Given the description of an element on the screen output the (x, y) to click on. 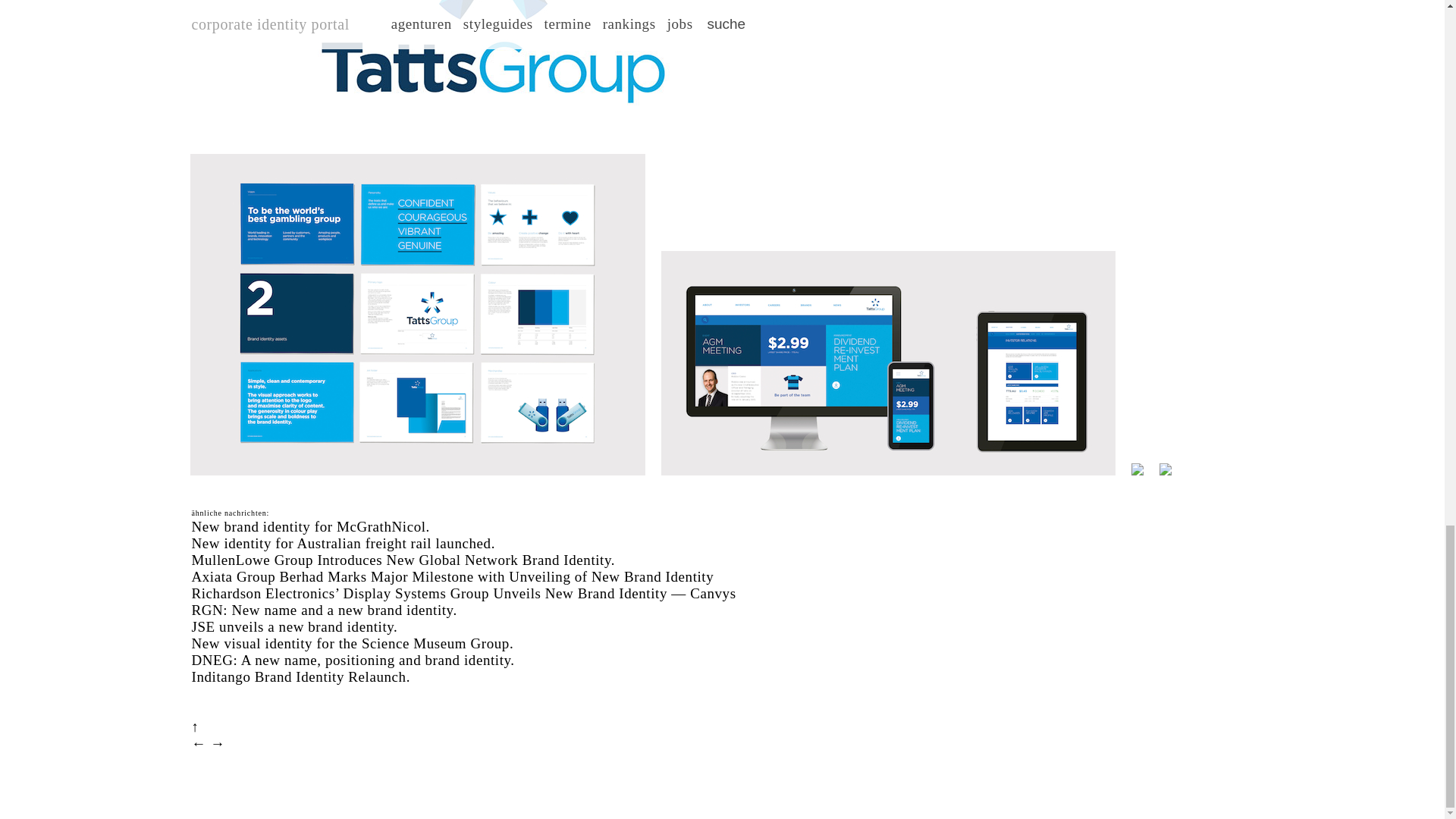
New visual identity for the Science Museum Group. (351, 643)
New identity for Australian freight rail launched. (342, 543)
DNEG: A new name, positioning and brand identity. (351, 659)
New visual identity for the Science Museum Group. (351, 643)
Inditango Brand Identity Relaunch. (299, 676)
DNEG: A new name, positioning and brand identity. (351, 659)
Inditango Brand Identity Relaunch. (299, 676)
JSE unveils a new brand identity. (293, 626)
